Given the description of an element on the screen output the (x, y) to click on. 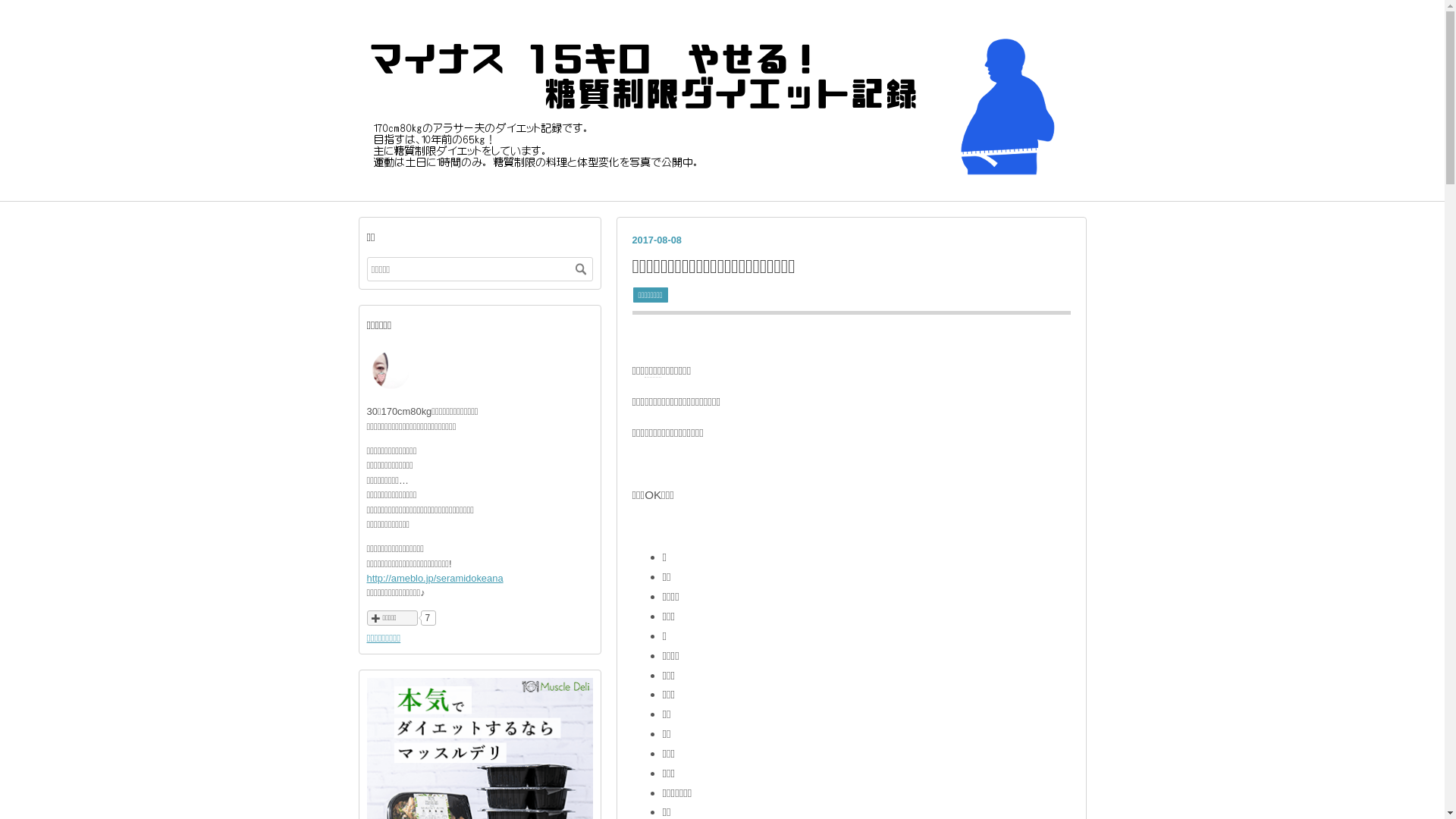
2017-08-08 Element type: text (656, 239)
http://ameblo.jp/seramidokeana Element type: text (435, 577)
